Given the description of an element on the screen output the (x, y) to click on. 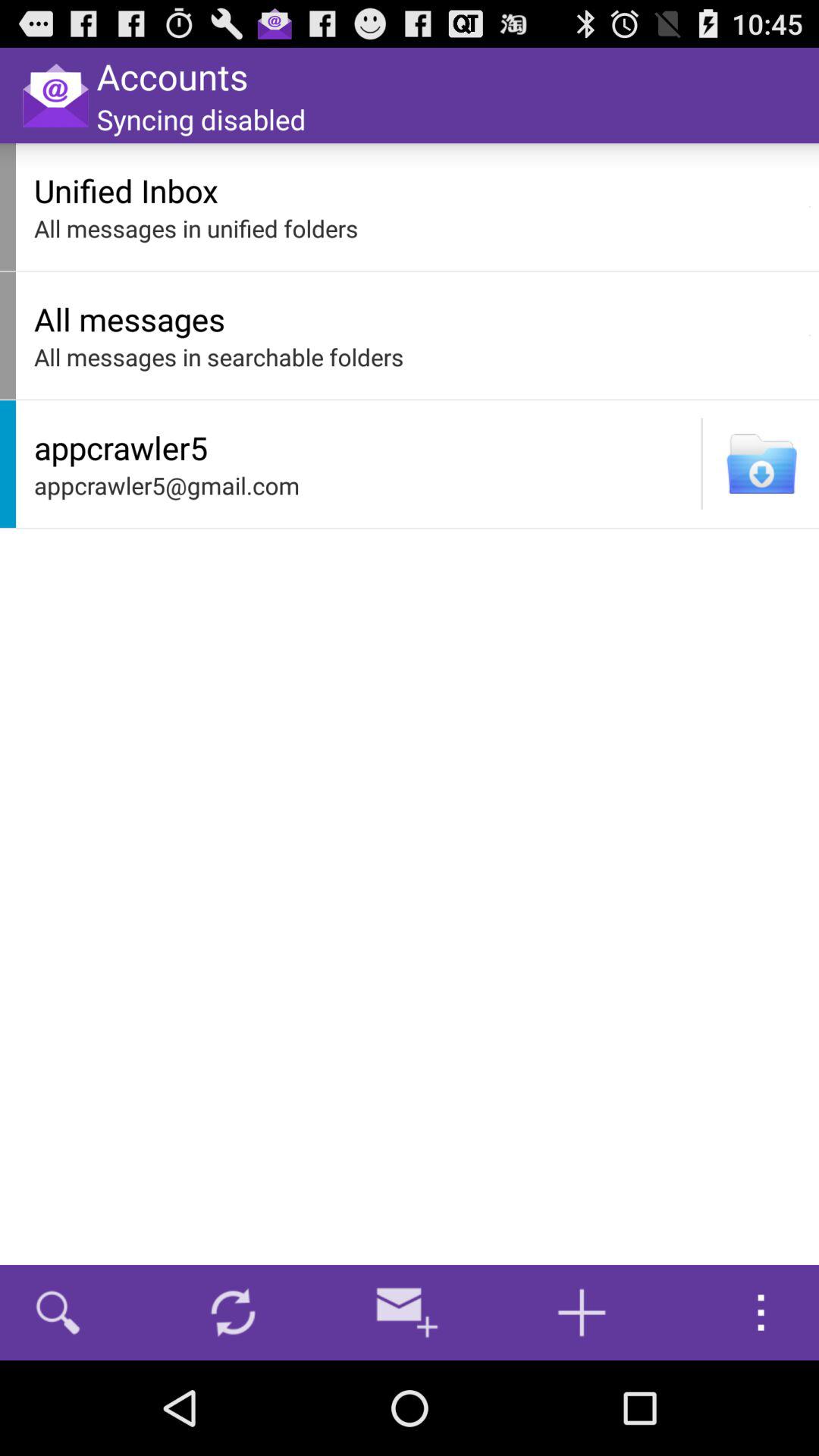
press app below the syncing disabled app (417, 190)
